Given the description of an element on the screen output the (x, y) to click on. 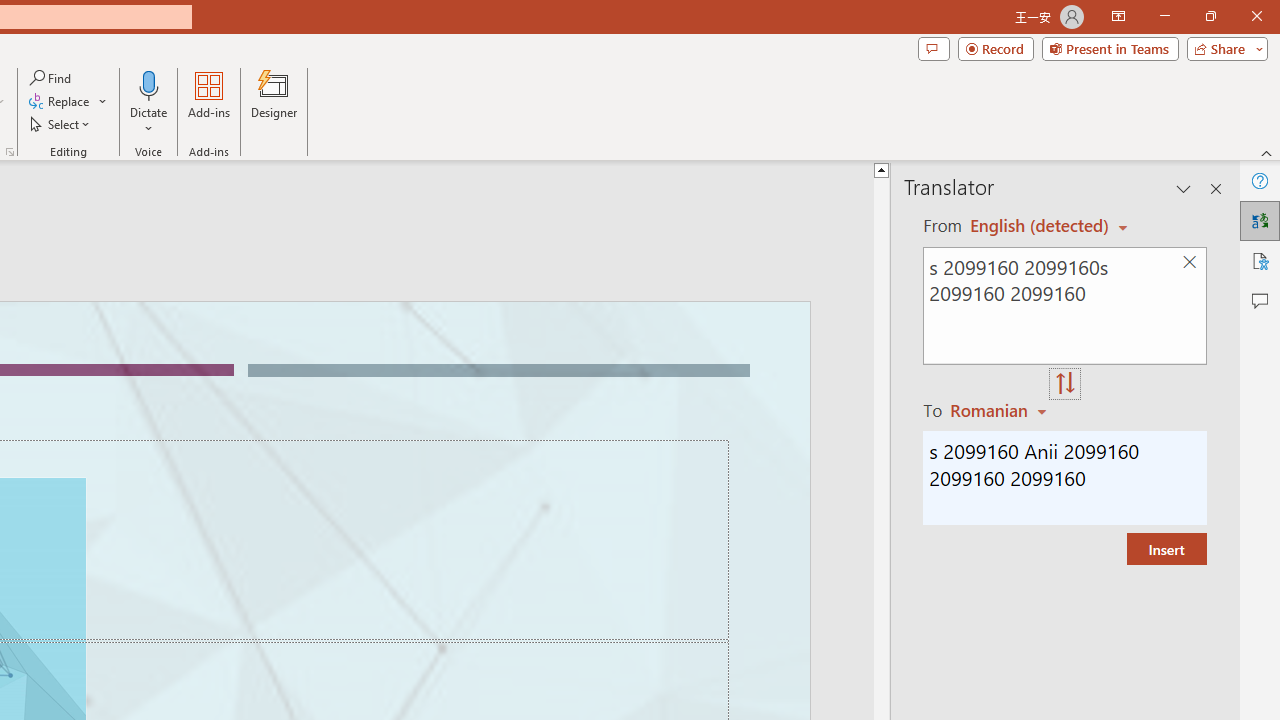
Clear text (1189, 262)
